Given the description of an element on the screen output the (x, y) to click on. 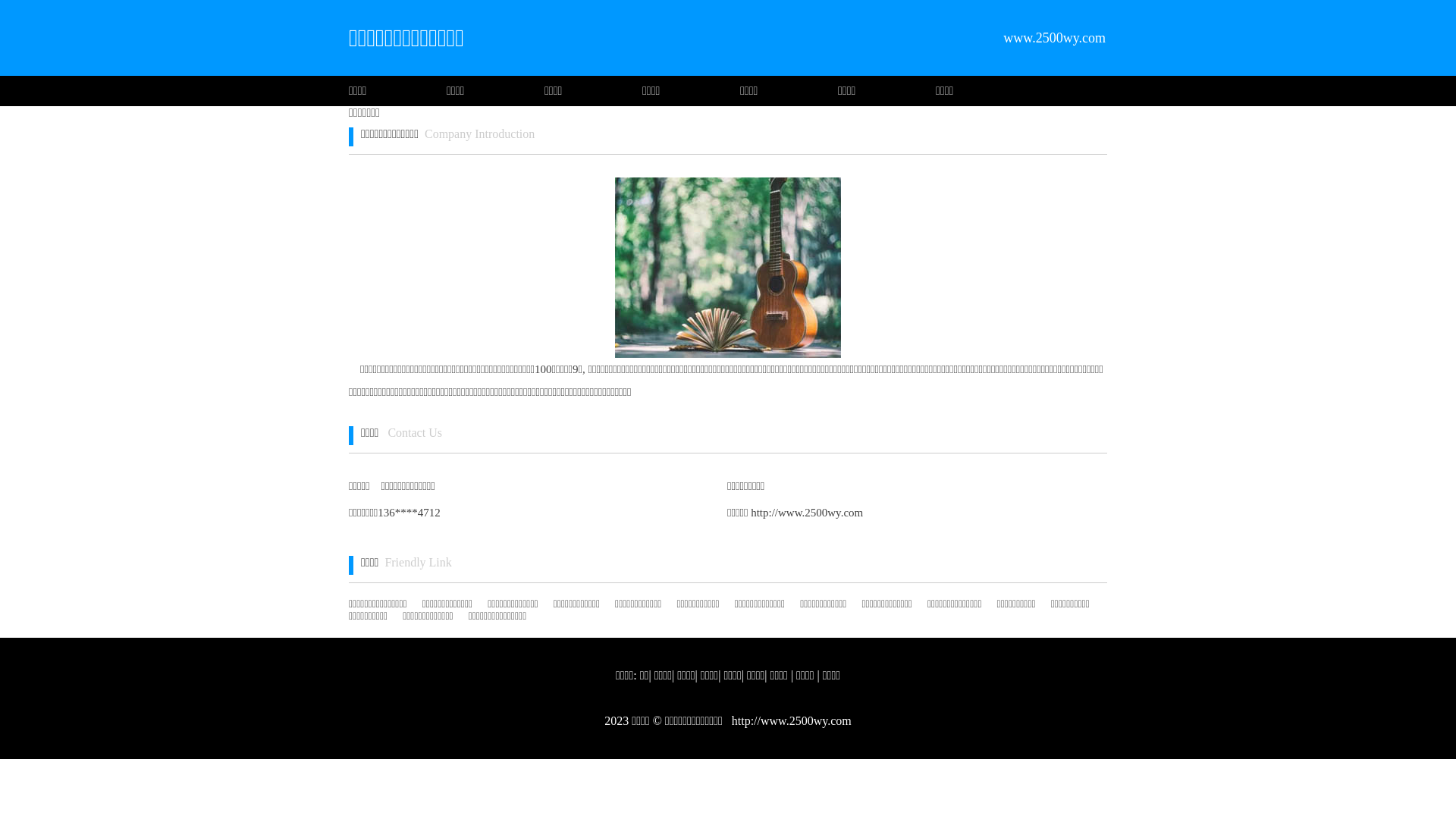
http://www.2500wy.com Element type: text (804, 512)
http://www.2500wy.com Element type: text (789, 720)
